Given the description of an element on the screen output the (x, y) to click on. 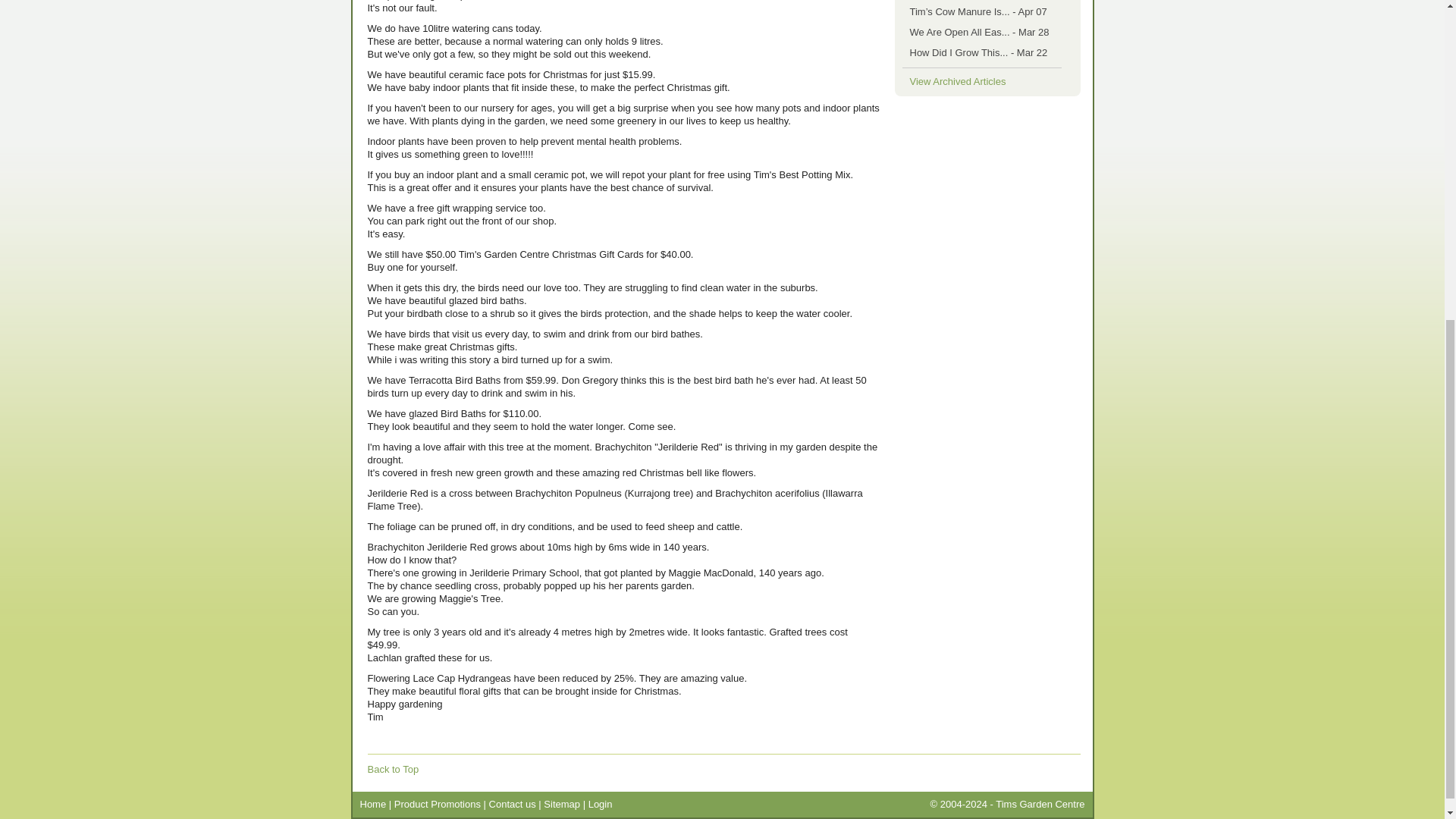
View Archived Articles (958, 81)
We Are Open All Eas... - Mar 28 (979, 32)
Back to Top (392, 769)
Home (372, 804)
How Did I Grow This... - Mar 22 (979, 52)
